Given the description of an element on the screen output the (x, y) to click on. 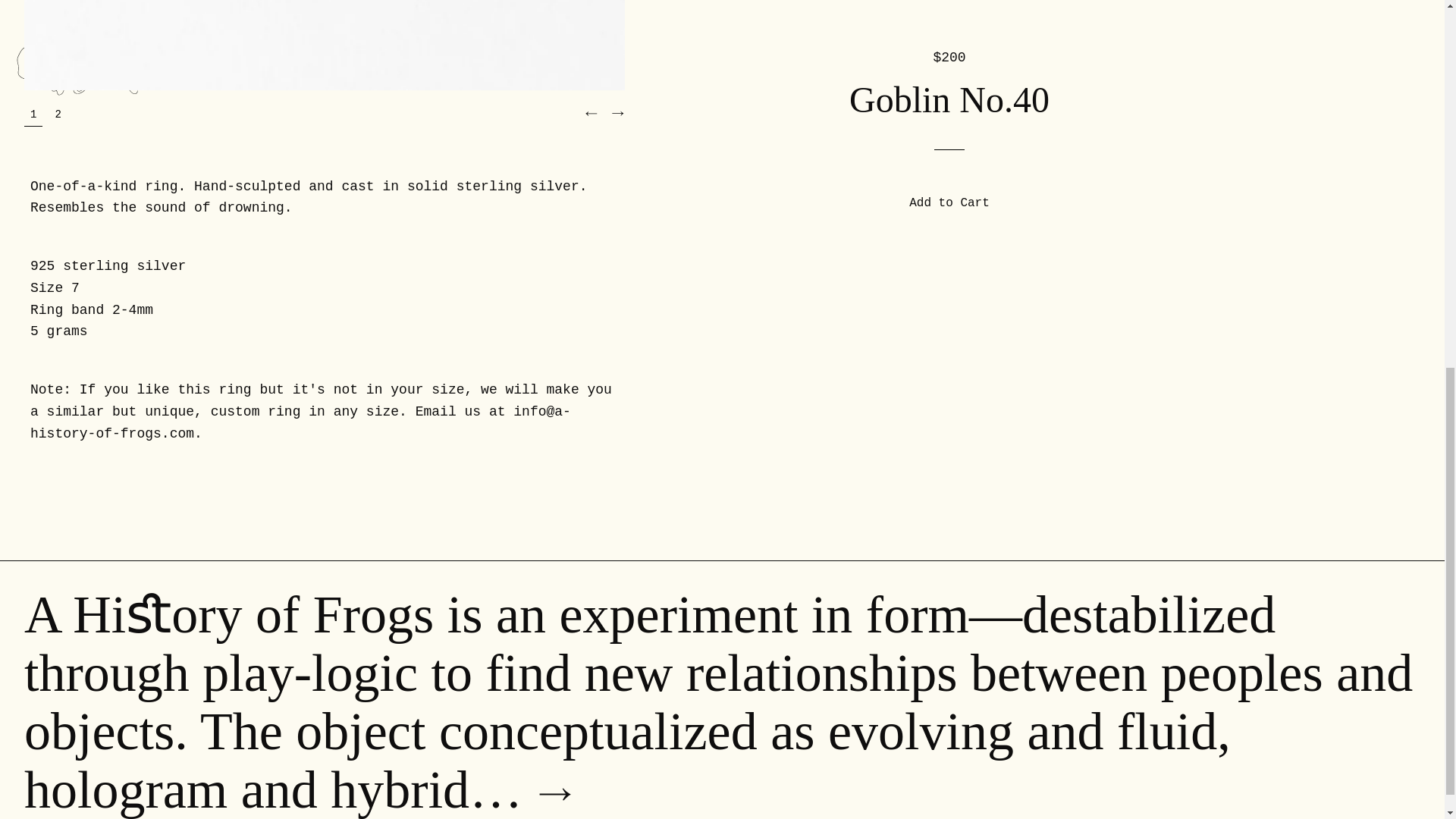
1 (33, 114)
2 (57, 113)
